Given the description of an element on the screen output the (x, y) to click on. 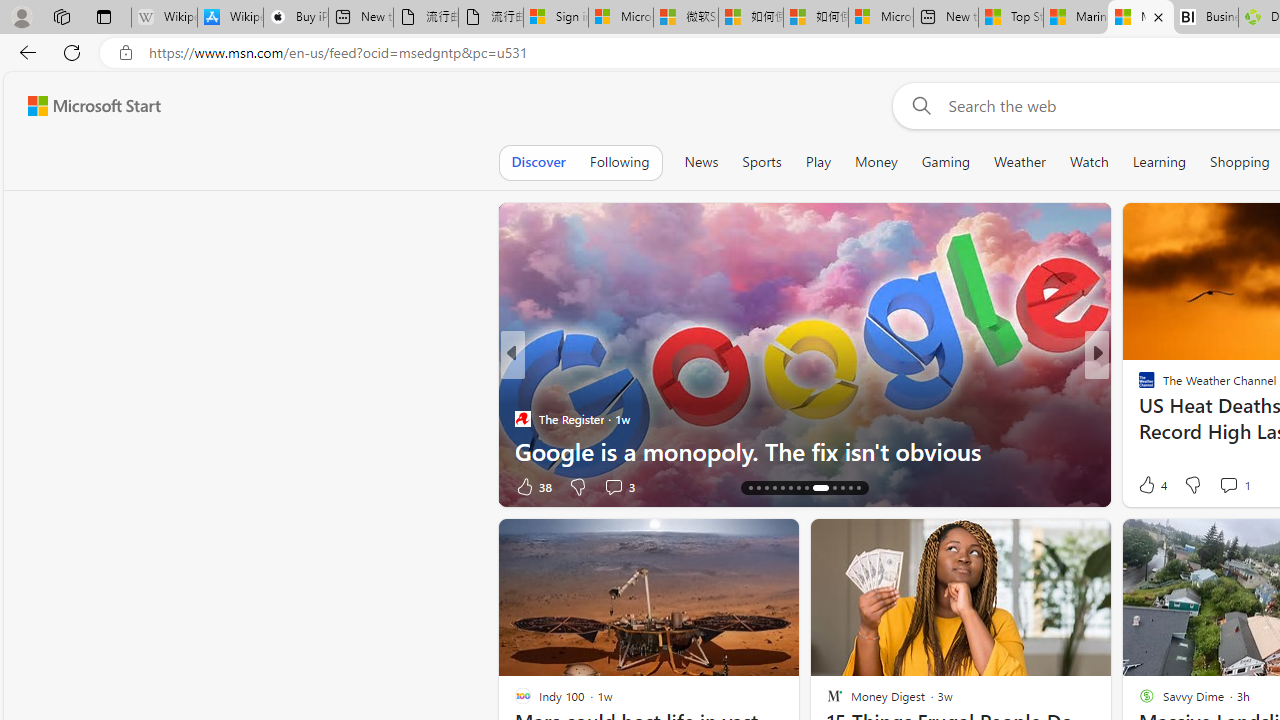
4 Like (1151, 484)
AutomationID: tab-20 (797, 487)
Hide this story (1050, 542)
View comments 35 Comment (1234, 485)
